Given the description of an element on the screen output the (x, y) to click on. 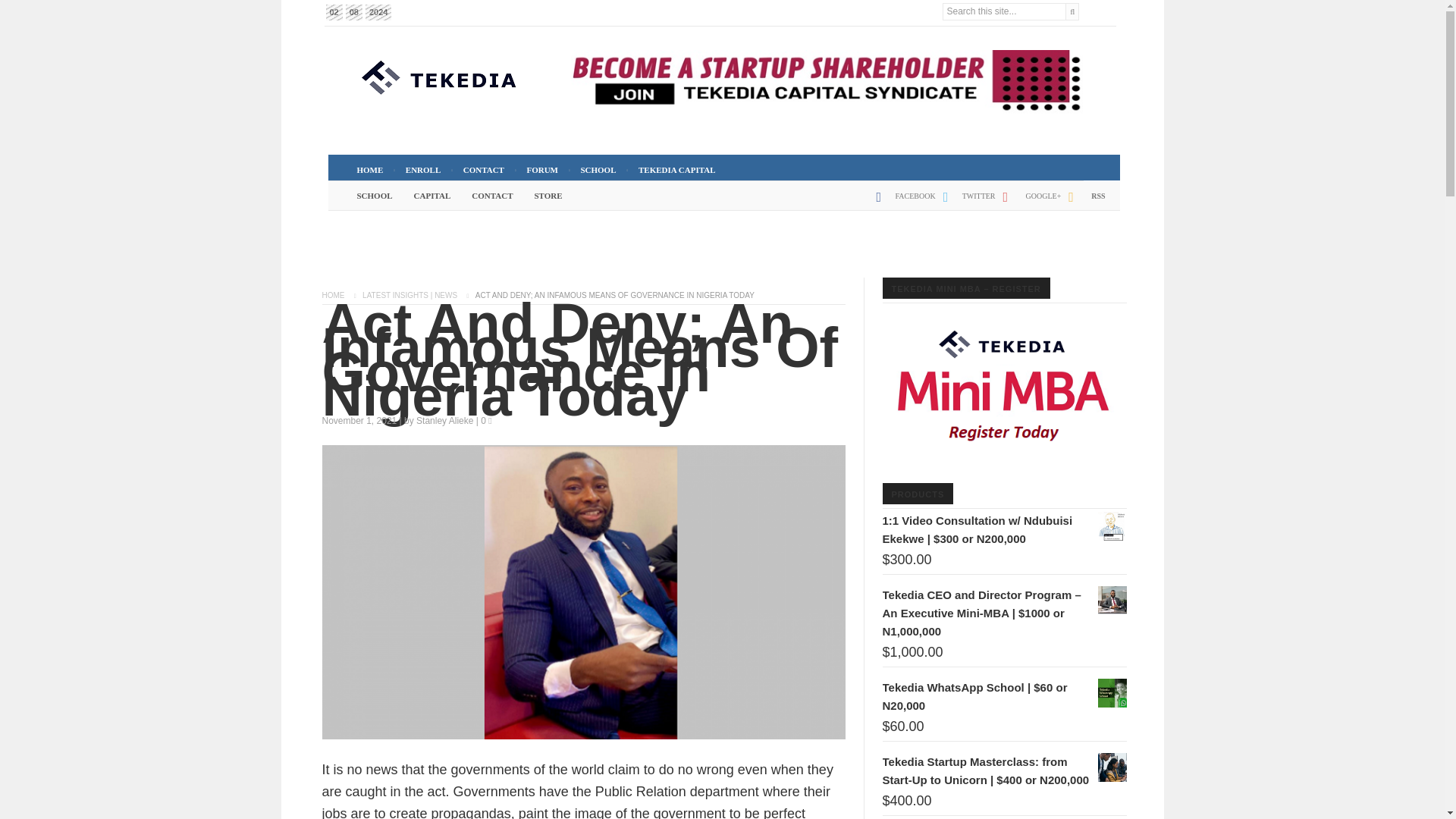
HOME (369, 169)
FORUM (542, 169)
ENROLL (422, 169)
rss (1083, 201)
facebook (902, 201)
CONTACT (483, 169)
google (1028, 201)
twitter (965, 201)
